Given the description of an element on the screen output the (x, y) to click on. 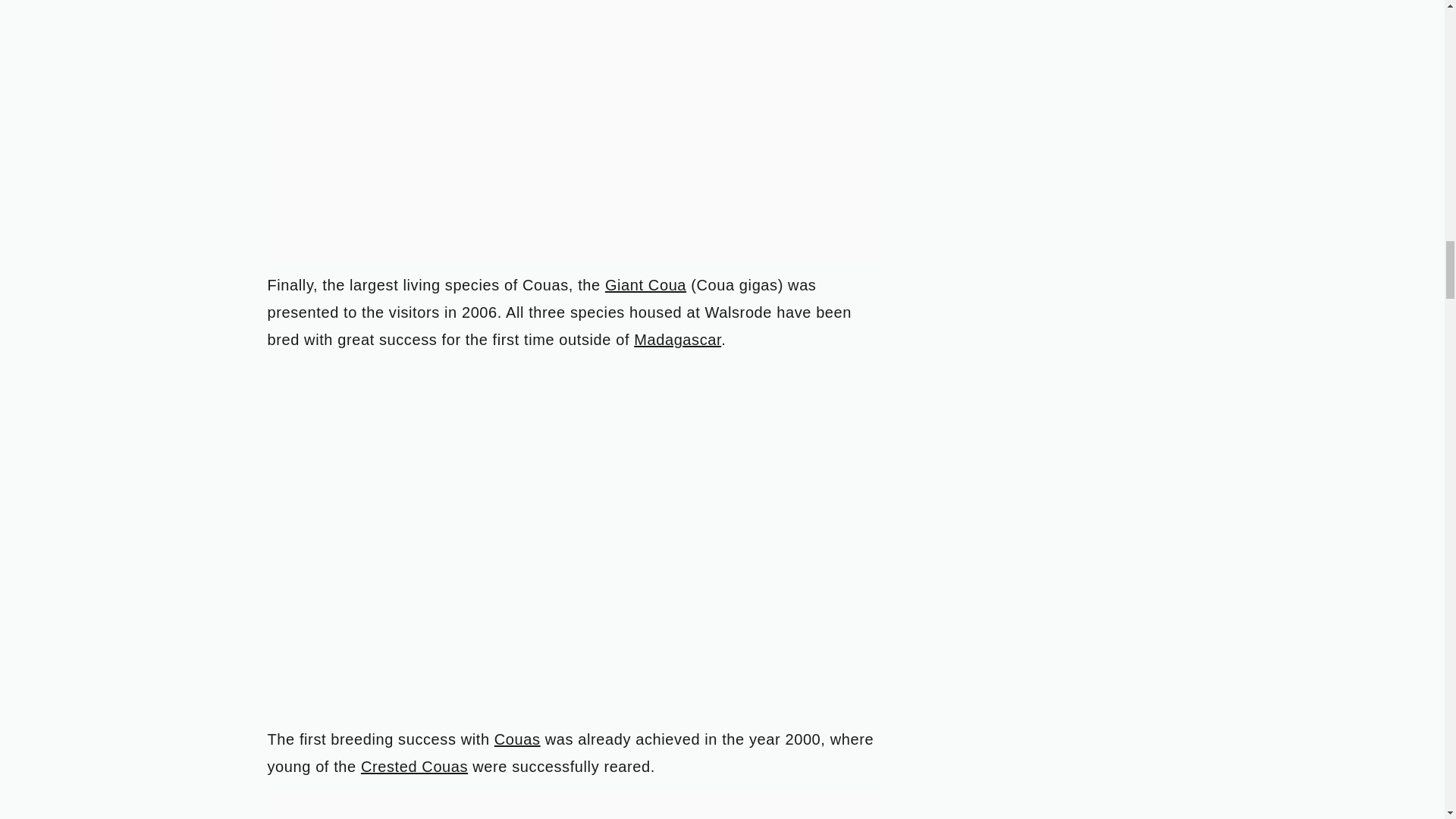
Couas (517, 739)
Crested Couas (414, 766)
Madagascar (676, 339)
Giant Coua (645, 284)
